Given the description of an element on the screen output the (x, y) to click on. 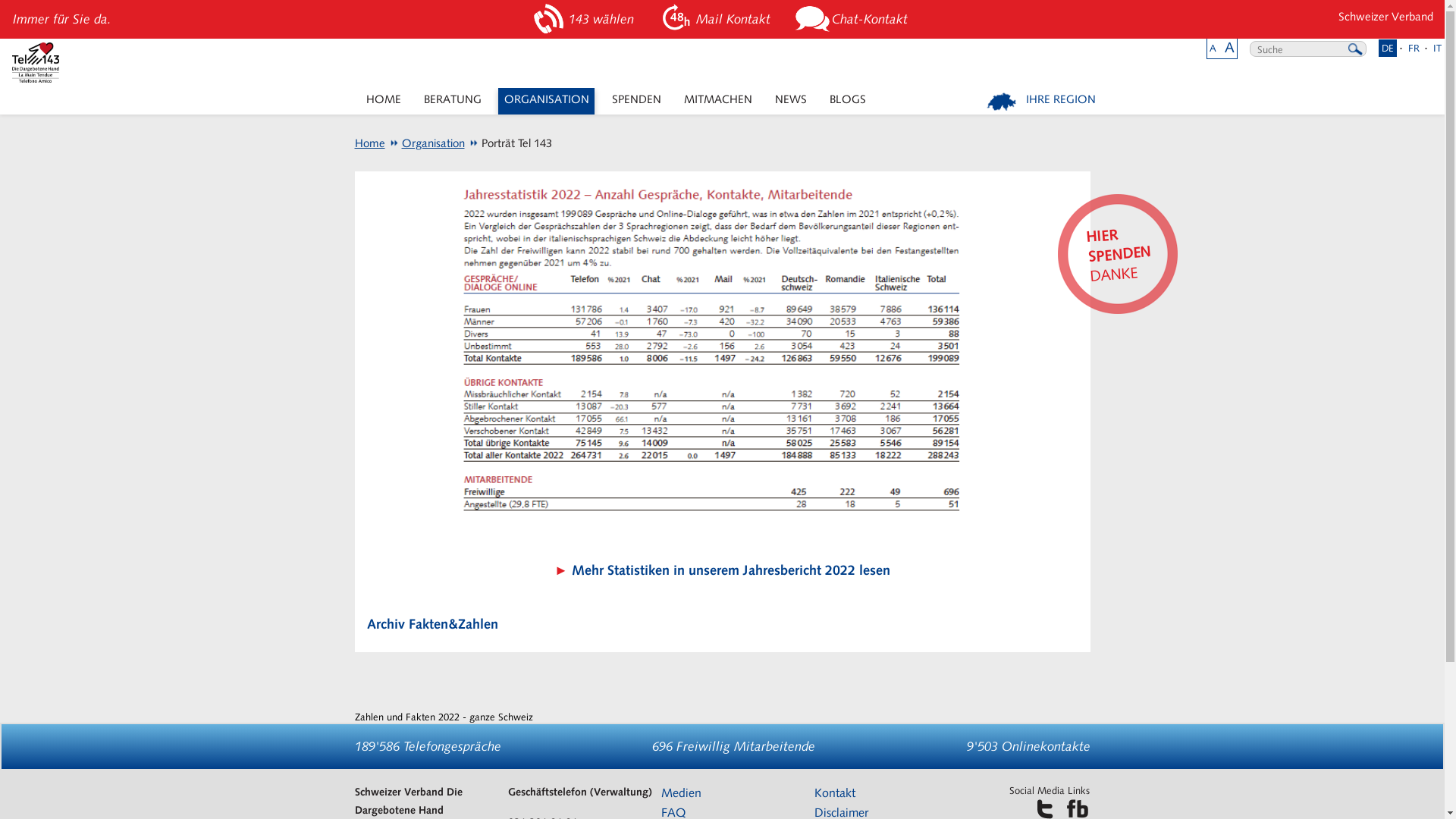
MITMACHEN Element type: text (717, 100)
HOME Element type: text (383, 100)
Home Element type: text (369, 143)
IT Element type: text (1437, 47)
Medien Element type: text (681, 792)
BLOGS Element type: text (847, 100)
Mail Kontakt Element type: text (716, 19)
Mehr Statistiken in unserem Jahresbericht 2022 lesen Element type: text (730, 569)
DE Element type: text (1387, 47)
Kontakt Element type: text (834, 792)
A Element type: text (1229, 47)
9'503 Onlinekontakte Element type: text (1027, 745)
IHRE REGION Element type: text (1041, 100)
Archiv Fakten&Zahlen Element type: text (432, 623)
FR Element type: text (1413, 47)
Organisation Element type: text (426, 143)
696 Freiwillig Mitarbeitende Element type: text (733, 745)
BERATUNG Element type: text (451, 100)
A Element type: text (1212, 47)
HIER SPENDEN DANKE Element type: text (1113, 249)
Chat-Kontakt Element type: text (854, 19)
ORGANISATION Element type: text (546, 100)
SPENDEN Element type: text (635, 100)
NEWS Element type: text (790, 100)
